Given the description of an element on the screen output the (x, y) to click on. 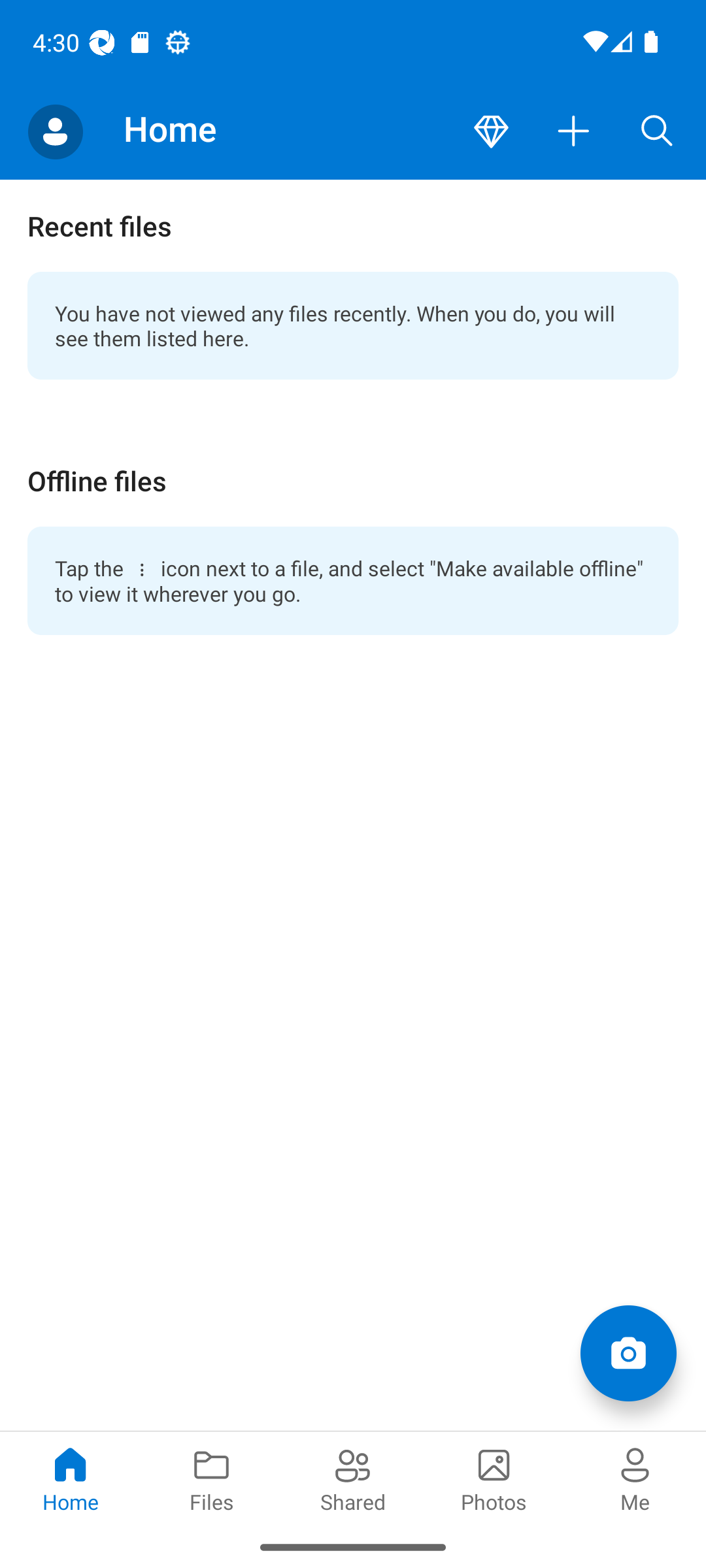
Account switcher (55, 131)
Premium button (491, 131)
More actions button (574, 131)
Search button (656, 131)
Scan (628, 1352)
Files pivot Files (211, 1478)
Shared pivot Shared (352, 1478)
Photos pivot Photos (493, 1478)
Me pivot Me (635, 1478)
